Given the description of an element on the screen output the (x, y) to click on. 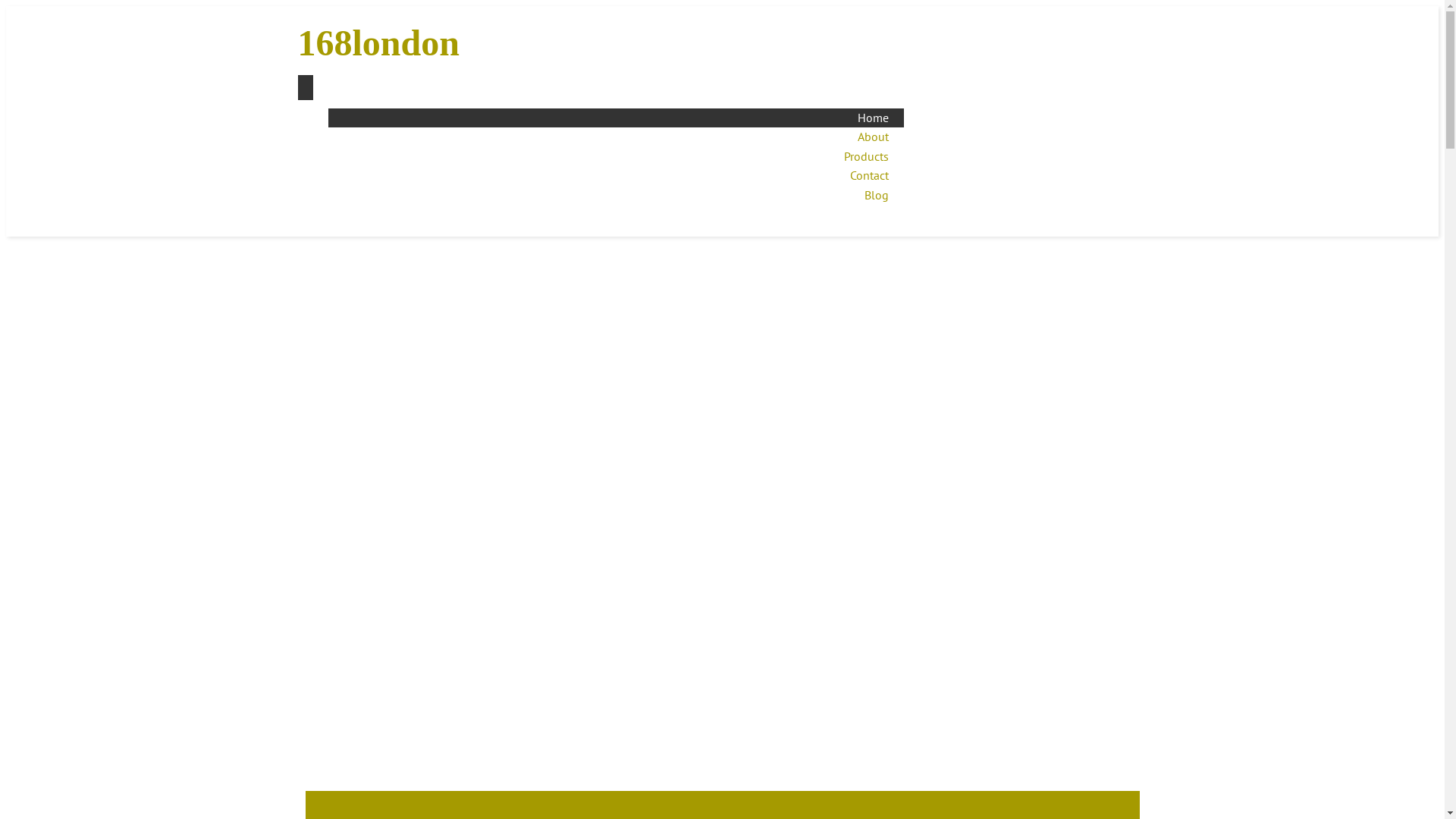
Blog Element type: text (876, 194)
Home Element type: text (872, 117)
Products Element type: text (865, 156)
168london Element type: text (422, 43)
About Element type: text (872, 136)
Contact Element type: text (868, 174)
